Given the description of an element on the screen output the (x, y) to click on. 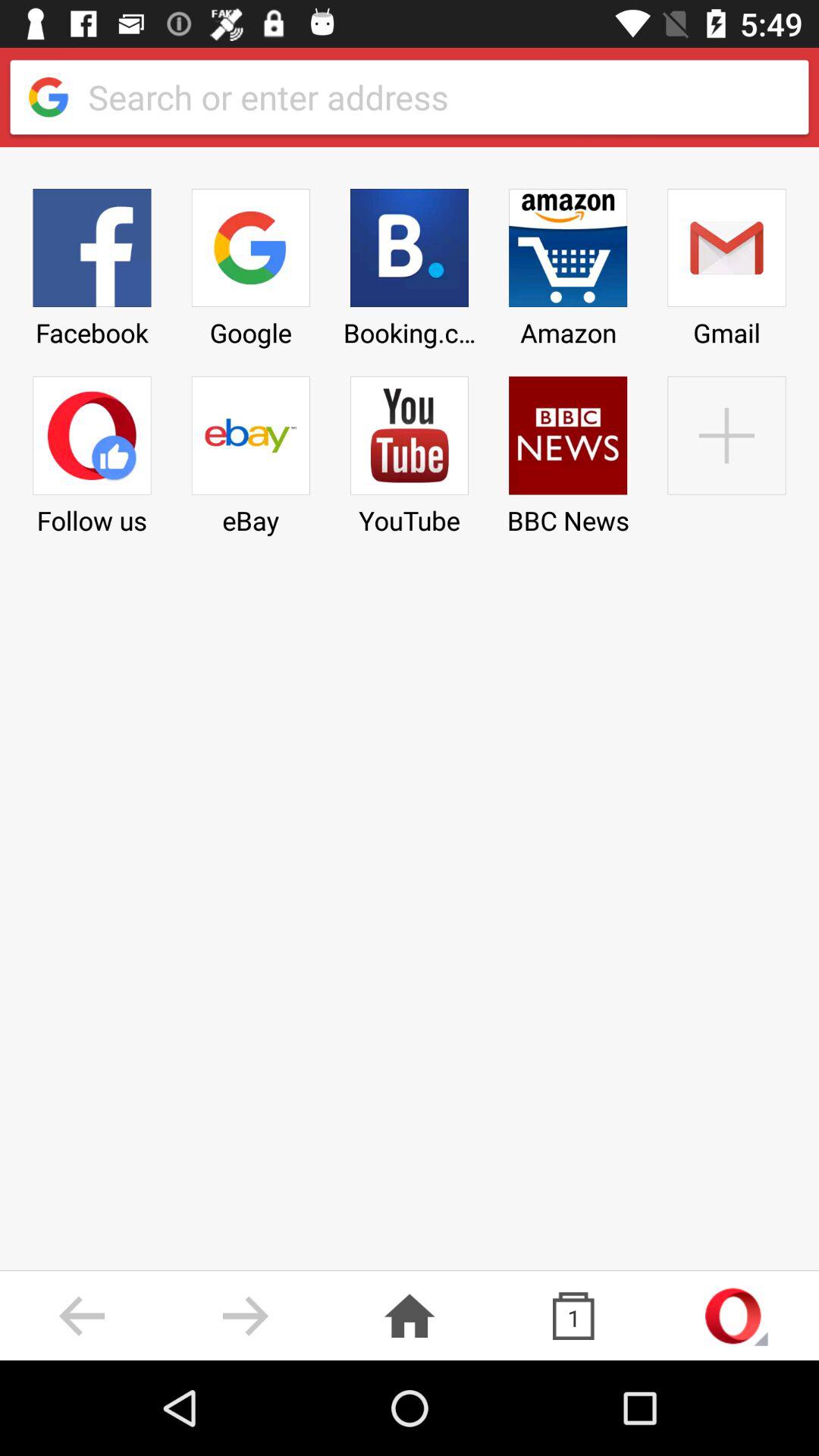
open item to the right of the amazon icon (726, 450)
